Given the description of an element on the screen output the (x, y) to click on. 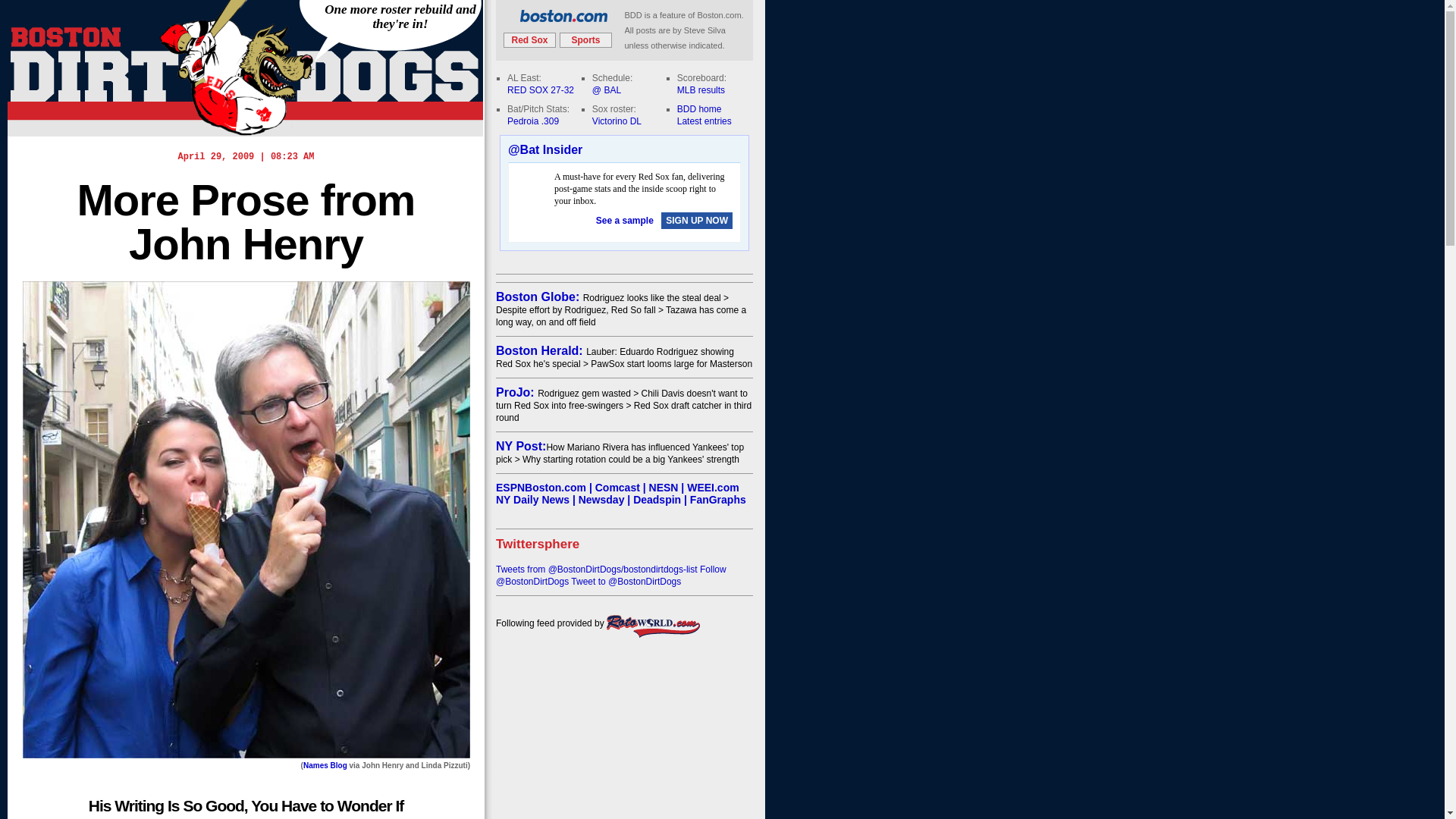
NESN.com (663, 487)
NY Daily News (532, 499)
Sports (585, 39)
Pedroia .309 (532, 121)
RED SOX 27-32 (539, 90)
BDD home (699, 109)
Newsday (601, 499)
MLB results (701, 90)
Comcast (617, 487)
NY Daily News (532, 499)
NESN (663, 487)
WEEI.com (712, 487)
Red Sox (529, 39)
FanGraphs (717, 499)
